Given the description of an element on the screen output the (x, y) to click on. 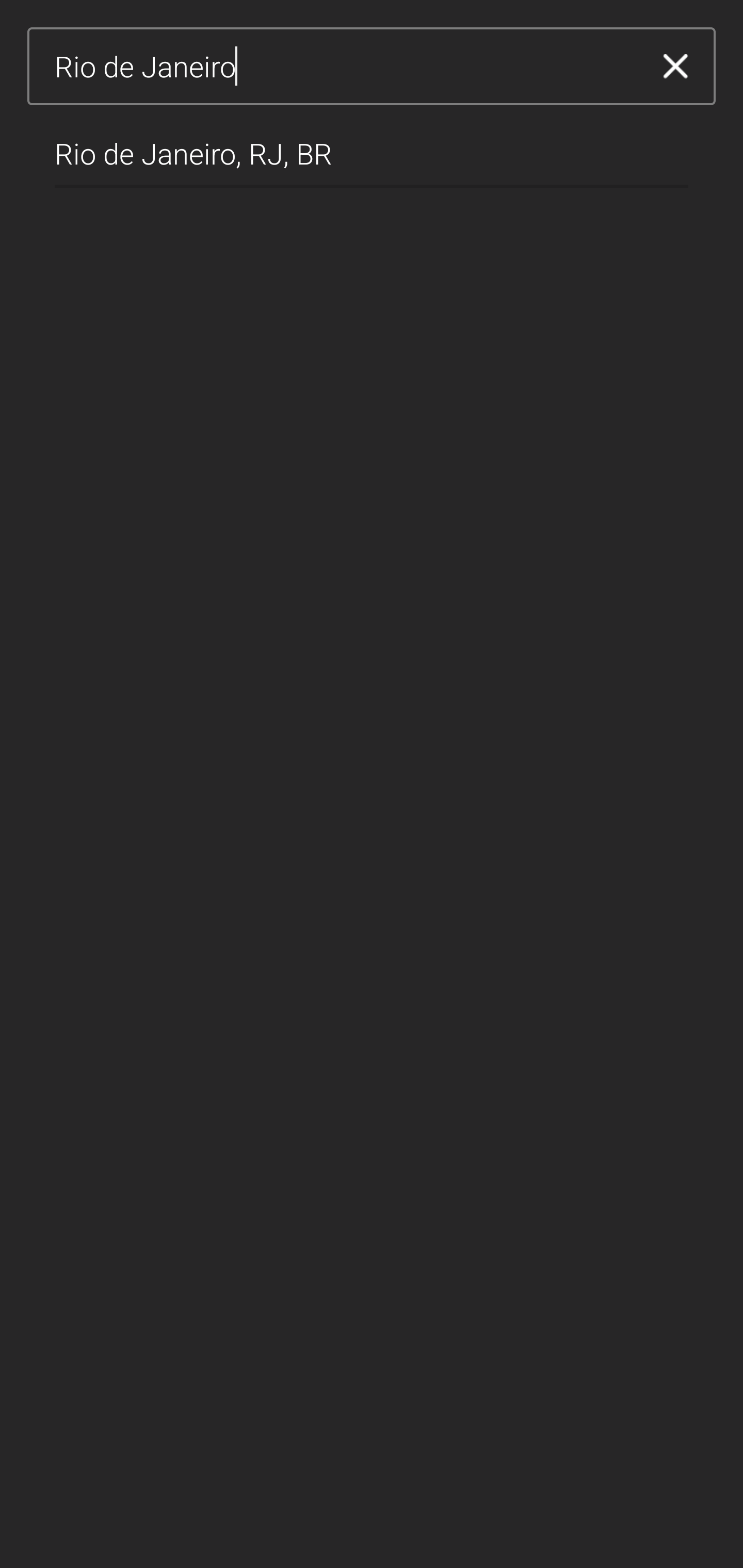
Rio de Janeiro (345, 66)
Rio de Janeiro, RJ, BR (371, 146)
